Given the description of an element on the screen output the (x, y) to click on. 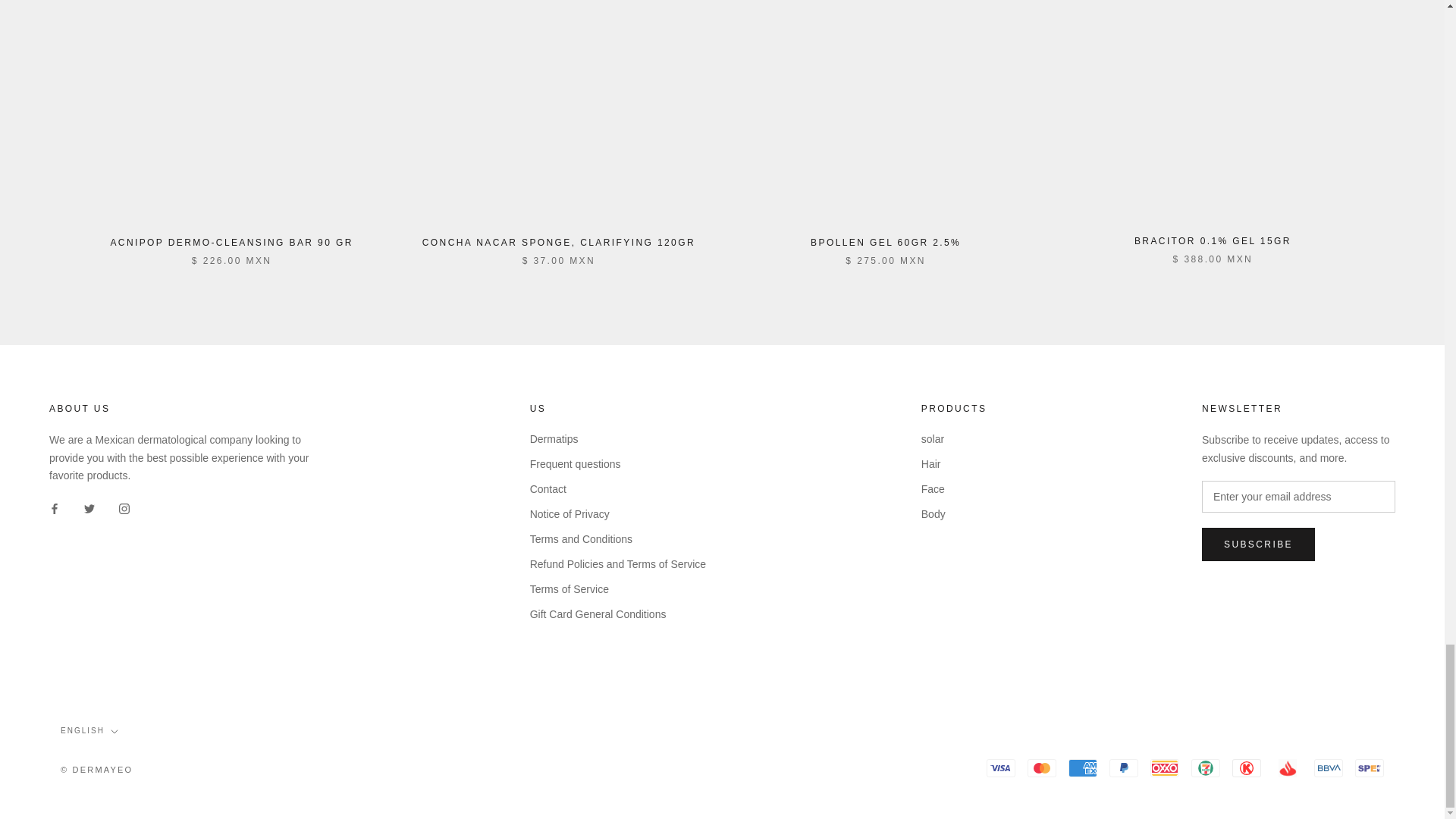
Mastercard (1042, 768)
PayPal (1123, 768)
Visa (1000, 768)
American Express (1082, 768)
